Given the description of an element on the screen output the (x, y) to click on. 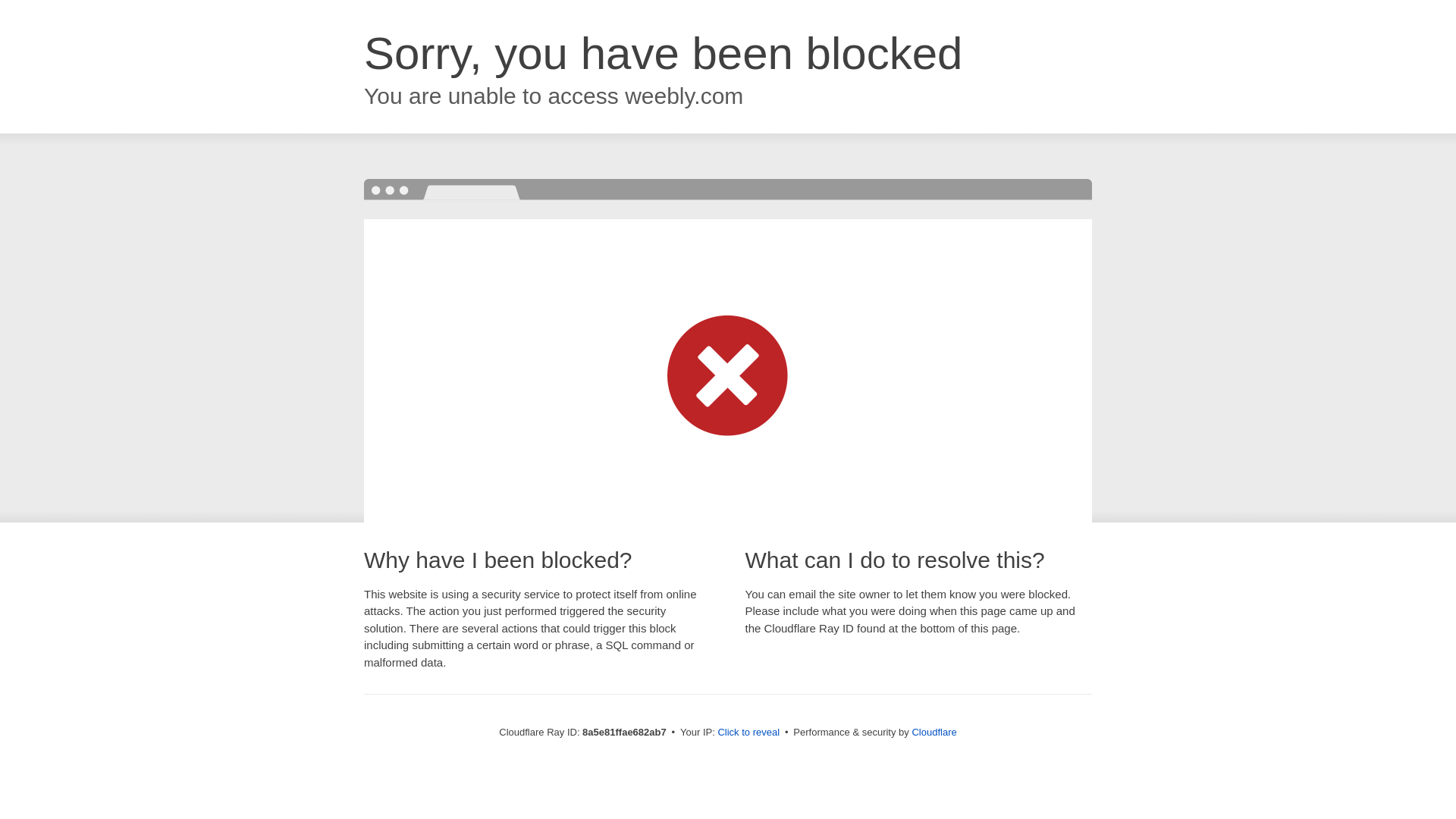
Cloudflare (933, 731)
Click to reveal (747, 732)
